Given the description of an element on the screen output the (x, y) to click on. 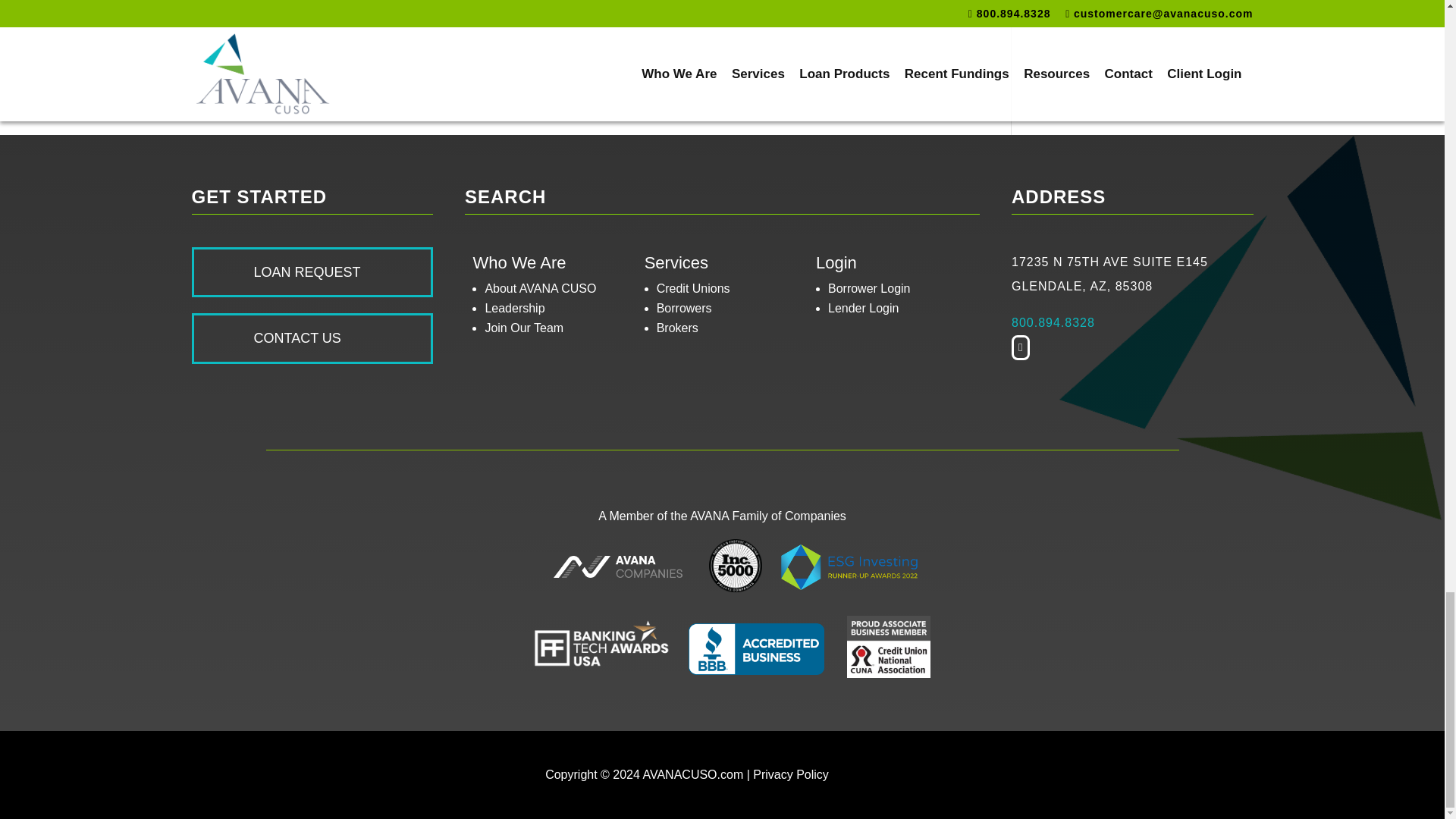
Credit Unions (693, 287)
Borrowers (683, 308)
About AVANA CUSO (539, 287)
Join Our Team (523, 327)
Brokers (677, 327)
Leadership (514, 308)
